Given the description of an element on the screen output the (x, y) to click on. 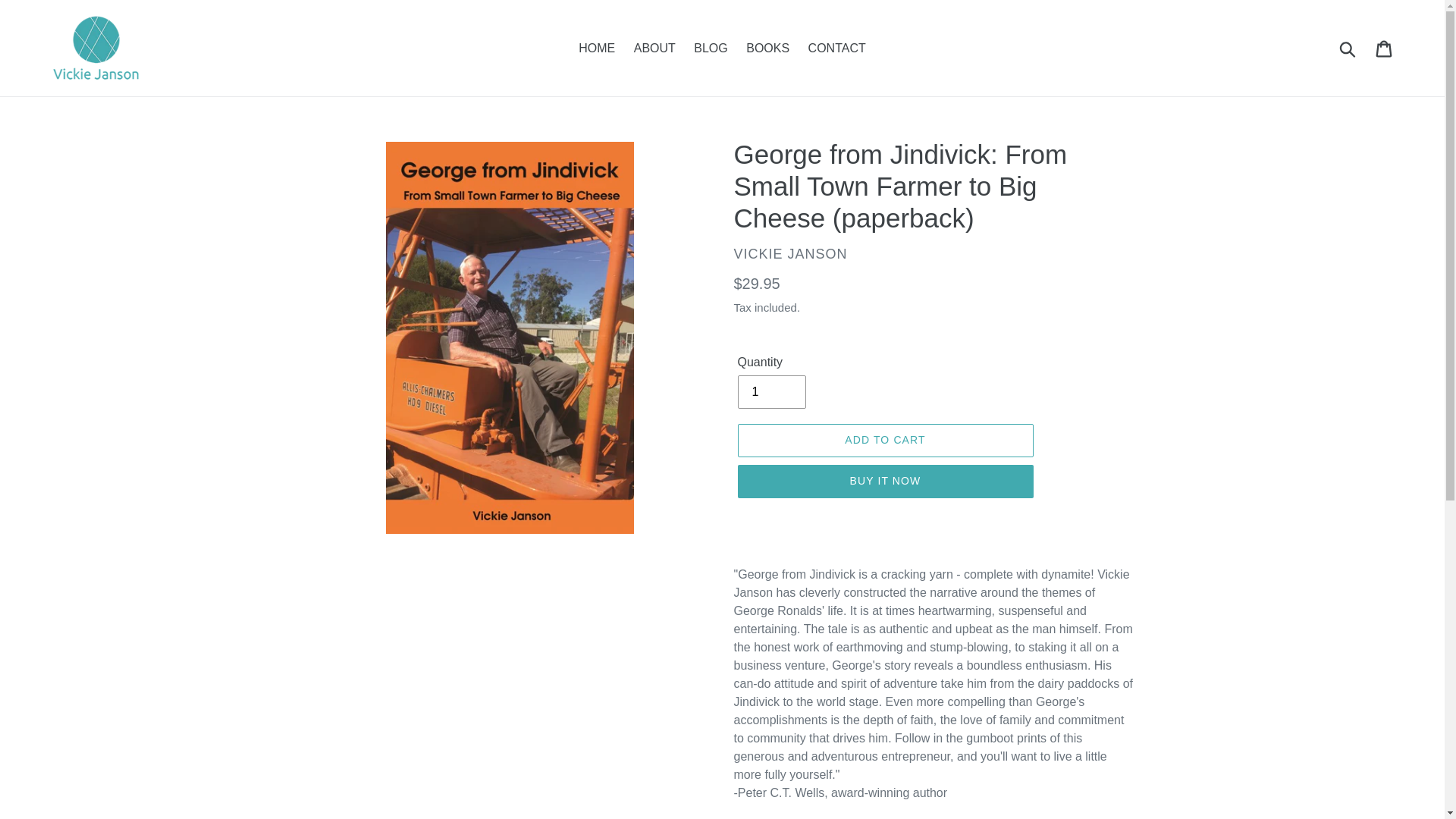
BLOG (710, 47)
CONTACT (836, 47)
ABOUT (654, 47)
HOME (596, 47)
ADD TO CART (884, 440)
1 (770, 391)
Submit (1348, 47)
Cart (1385, 47)
BUY IT NOW (884, 481)
BOOKS (767, 47)
